Given the description of an element on the screen output the (x, y) to click on. 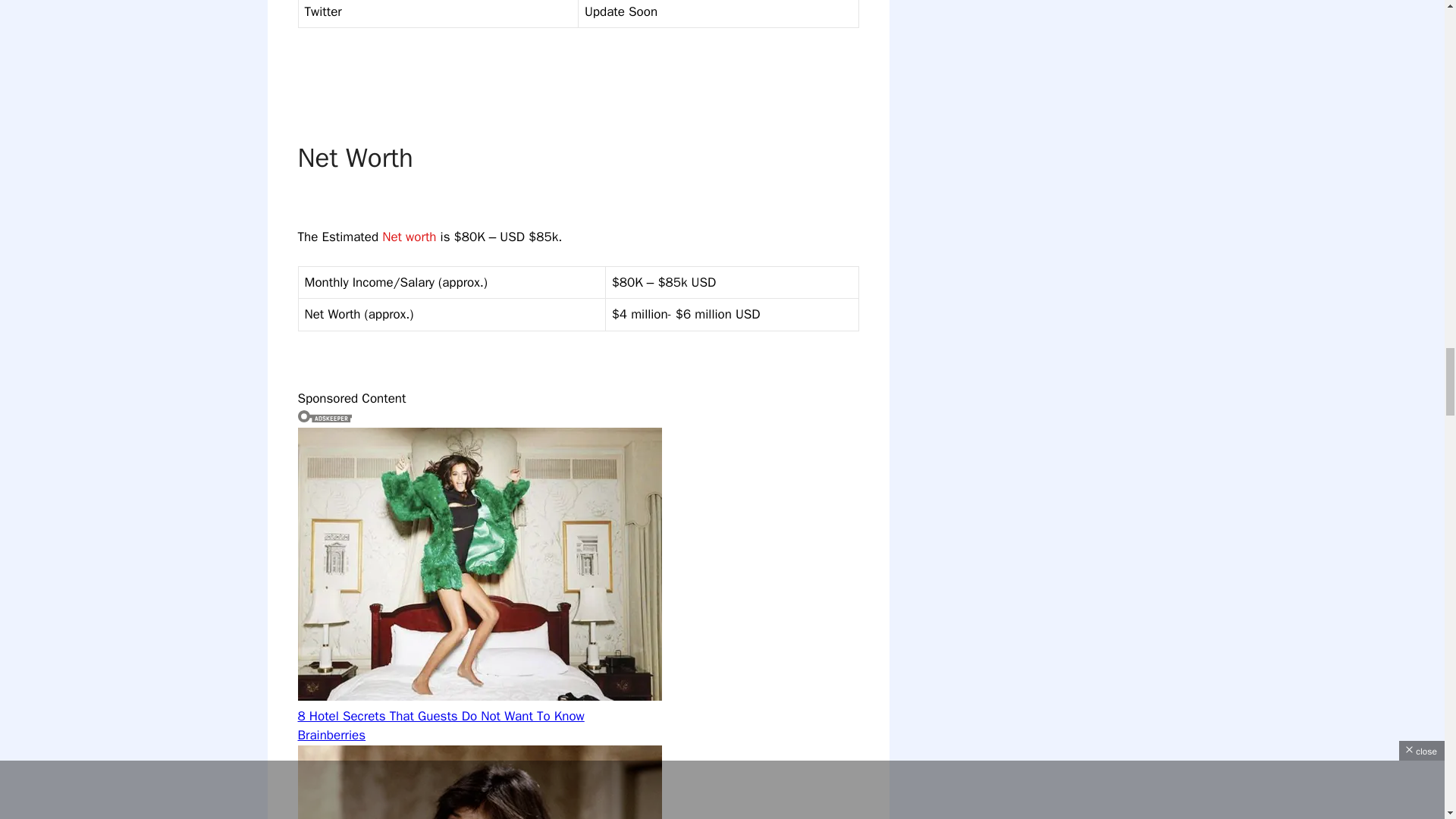
Net worth (408, 236)
